Given the description of an element on the screen output the (x, y) to click on. 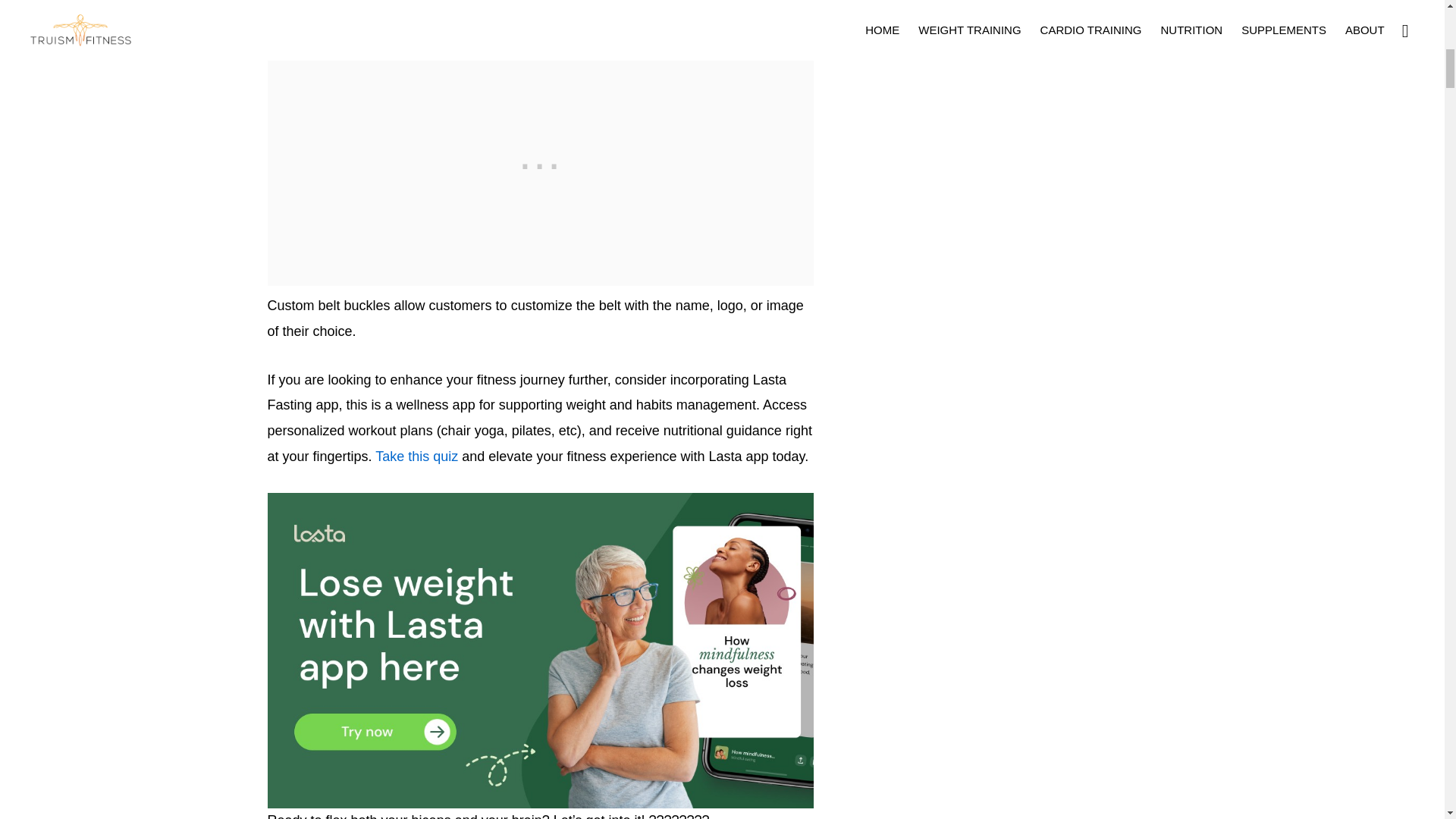
Take this quiz (416, 456)
